Given the description of an element on the screen output the (x, y) to click on. 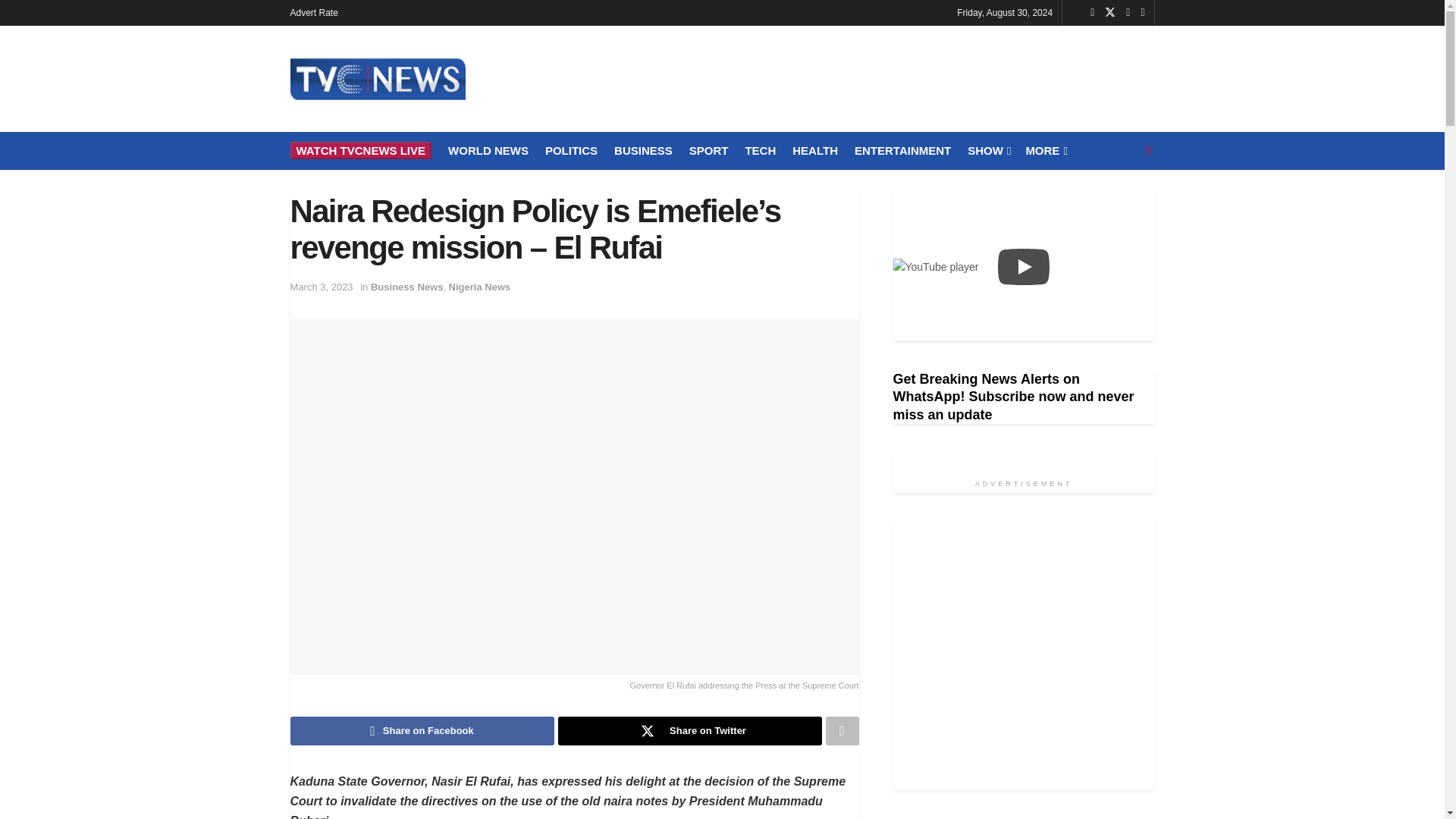
BUSINESS (643, 150)
WORLD NEWS (488, 150)
POLITICS (570, 150)
Advert Rate (313, 12)
MORE (1044, 150)
SPORT (708, 150)
SHOW (988, 150)
TECH (760, 150)
WATCH TVCNEWS LIVE (359, 149)
ENTERTAINMENT (902, 150)
